Given the description of an element on the screen output the (x, y) to click on. 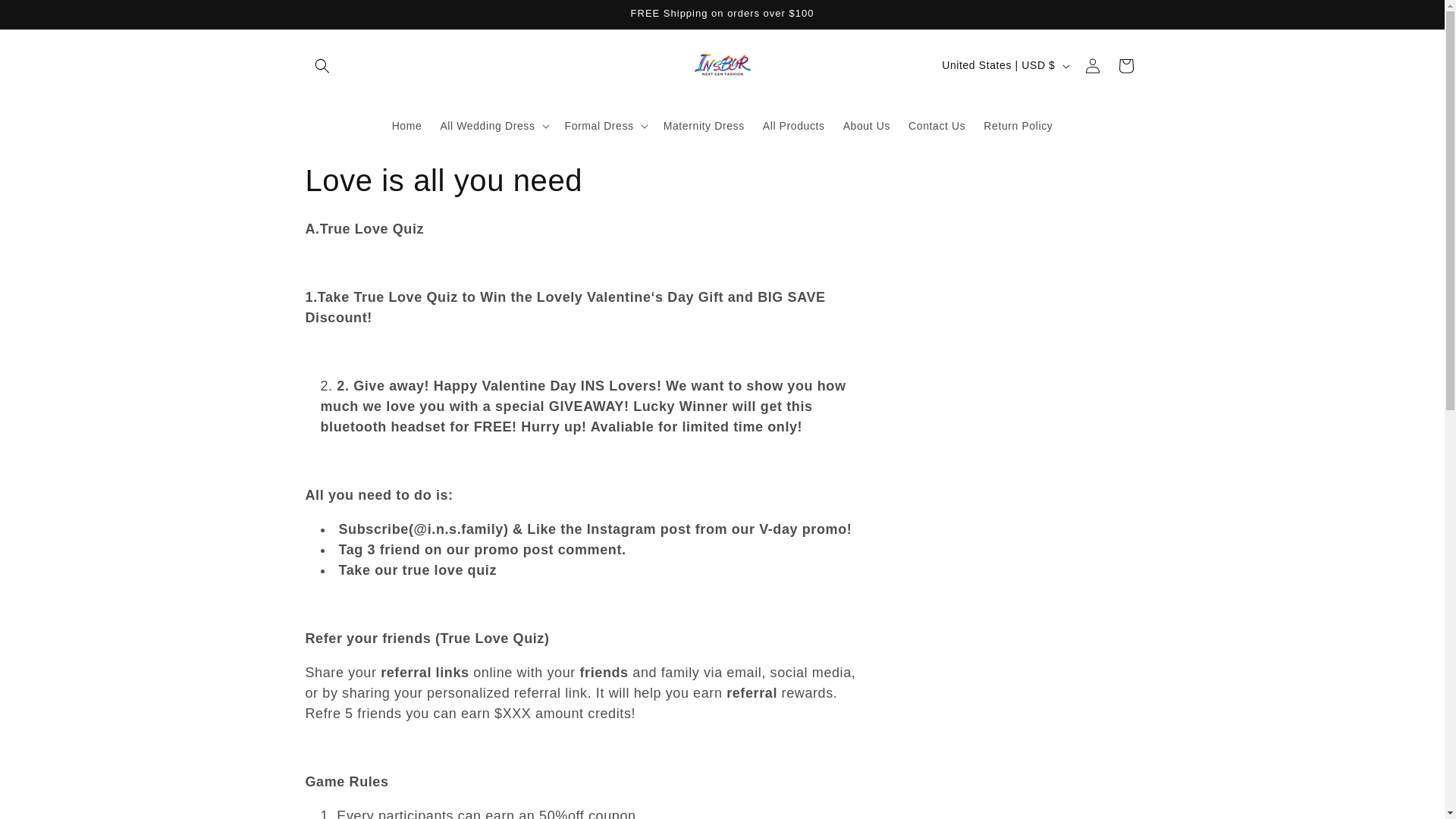
Home (406, 124)
Skip to content (45, 17)
All Products (794, 124)
Maternity Dress (703, 124)
